Given the description of an element on the screen output the (x, y) to click on. 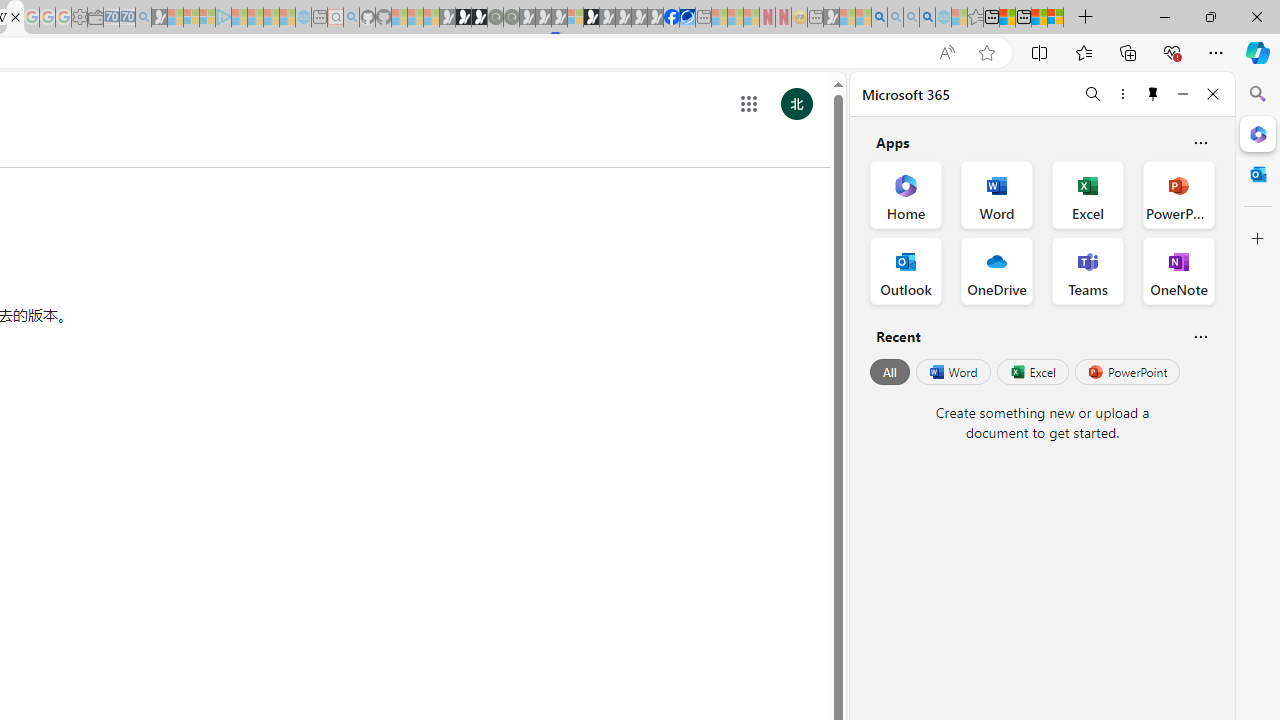
Excel (1031, 372)
Word Office App (996, 194)
Close Outlook pane (1258, 174)
PowerPoint (1127, 372)
Microsoft account | Privacy - Sleeping (207, 17)
Microsoft Start - Sleeping (271, 17)
